Given the description of an element on the screen output the (x, y) to click on. 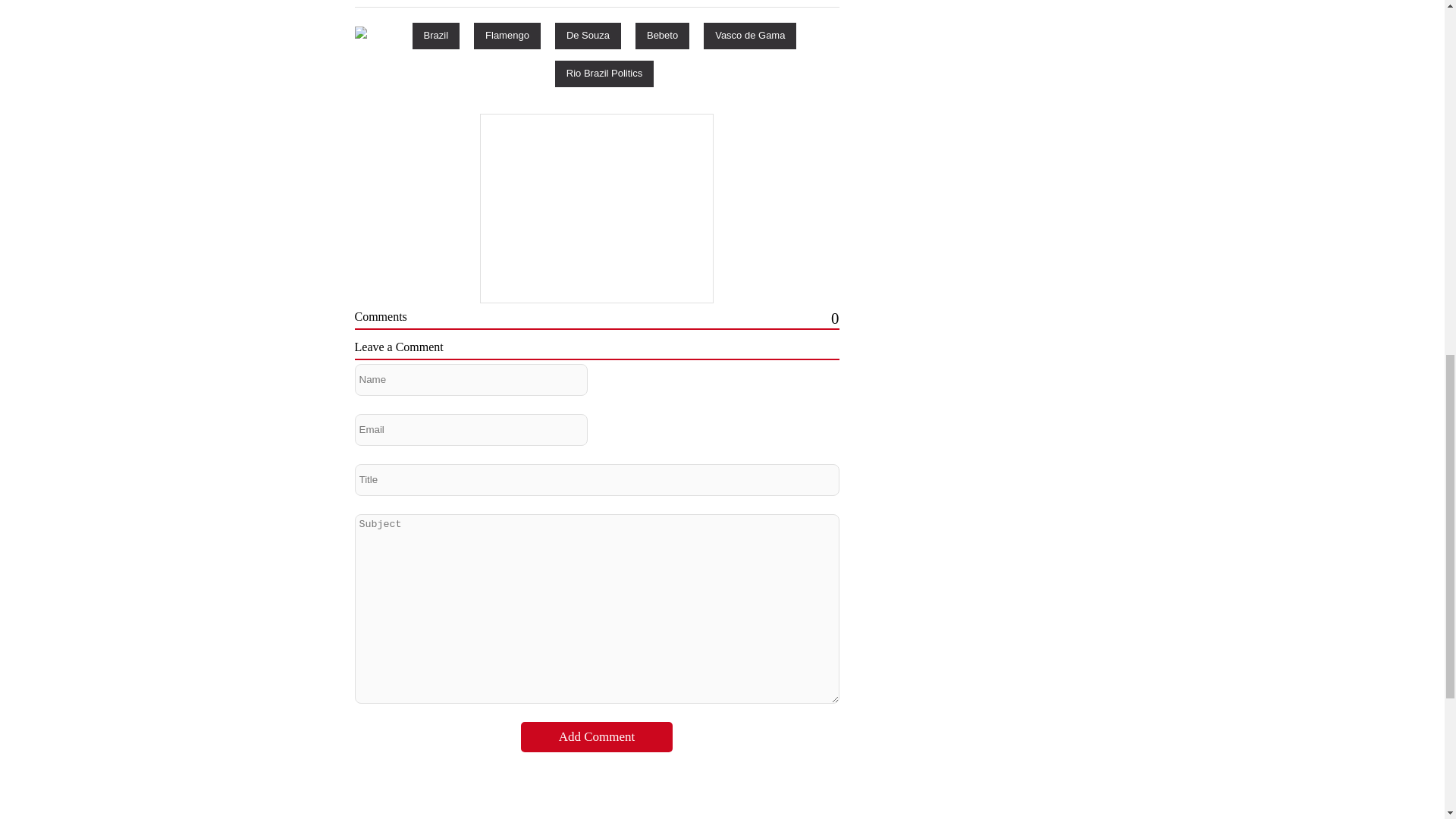
Brazil (436, 34)
Rio Brazil Politics (603, 72)
De Souza (587, 34)
Flamengo (507, 34)
Vasco de Gama (749, 34)
Bebeto (661, 34)
Add Comment (596, 736)
